Given the description of an element on the screen output the (x, y) to click on. 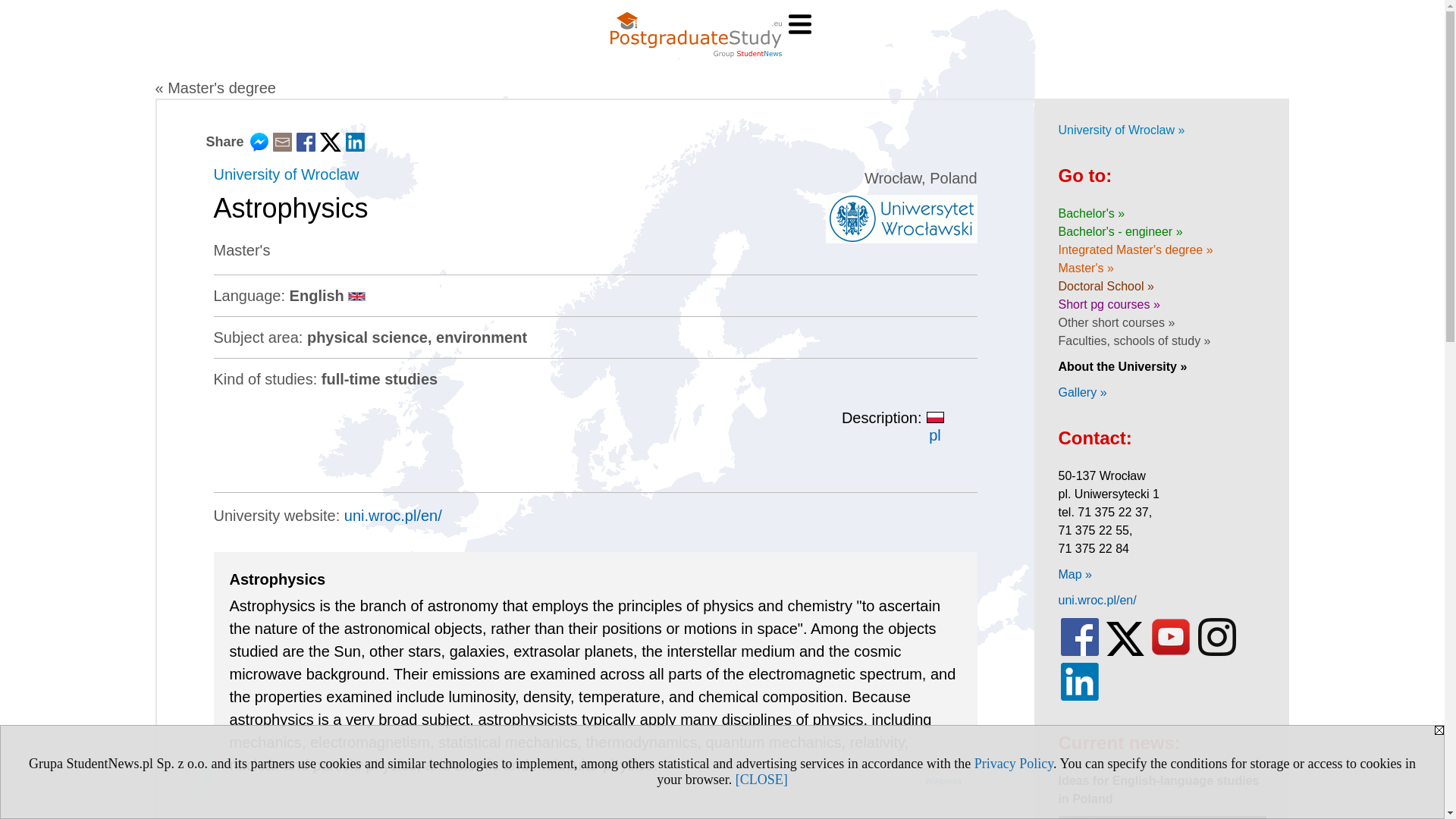
LinkedIn (355, 145)
facebook (1079, 652)
Studies in English (356, 296)
Facebook (306, 145)
Privacy Policy (1013, 763)
Messenger (259, 145)
Twitter (330, 145)
YouTube (1171, 652)
twitter (1125, 652)
e-mail (282, 145)
Wikipedia (942, 780)
University of Wroclaw (286, 174)
linkedin (1079, 697)
instagram (1217, 652)
